Given the description of an element on the screen output the (x, y) to click on. 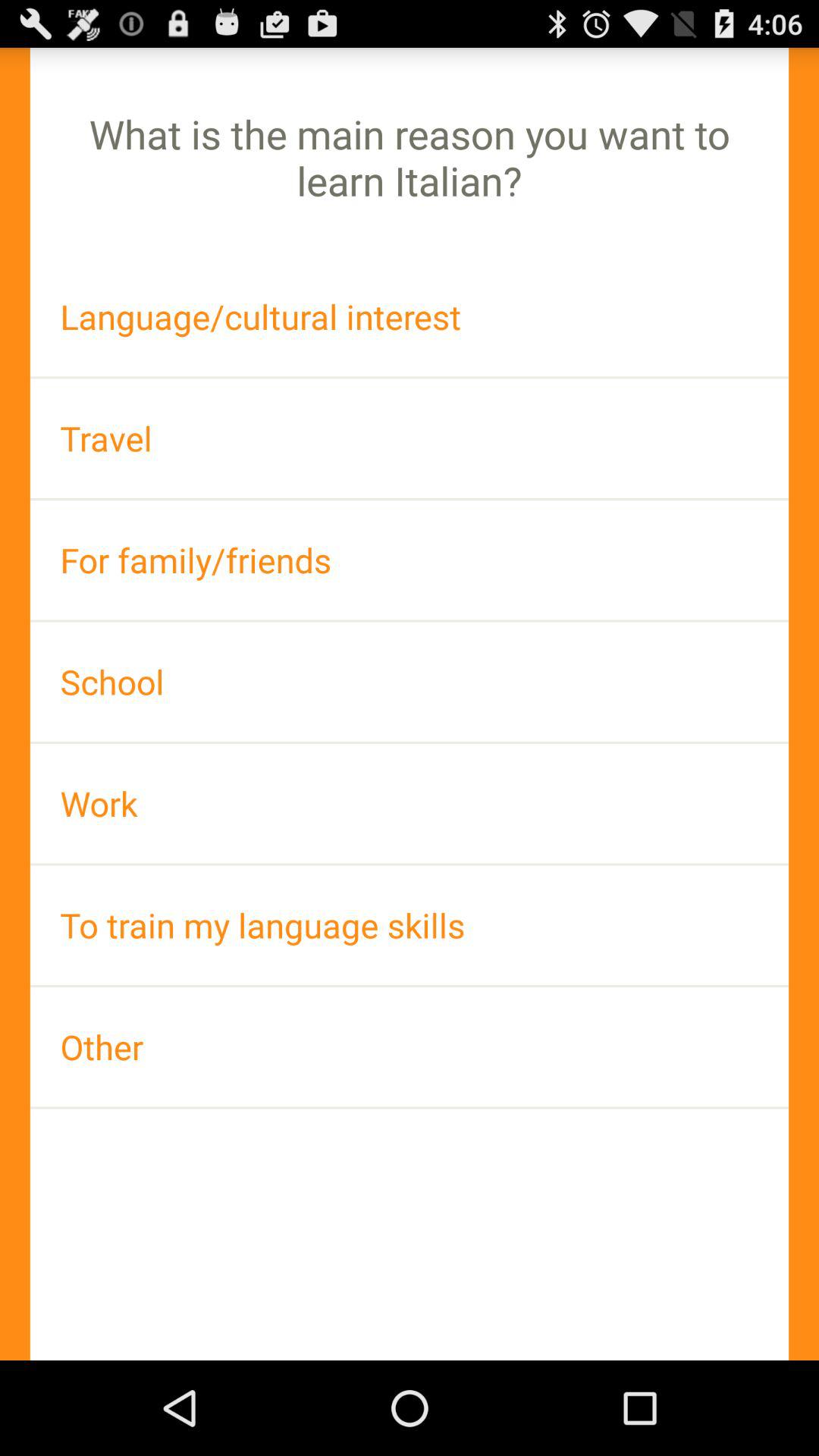
choose item above school icon (409, 559)
